Given the description of an element on the screen output the (x, y) to click on. 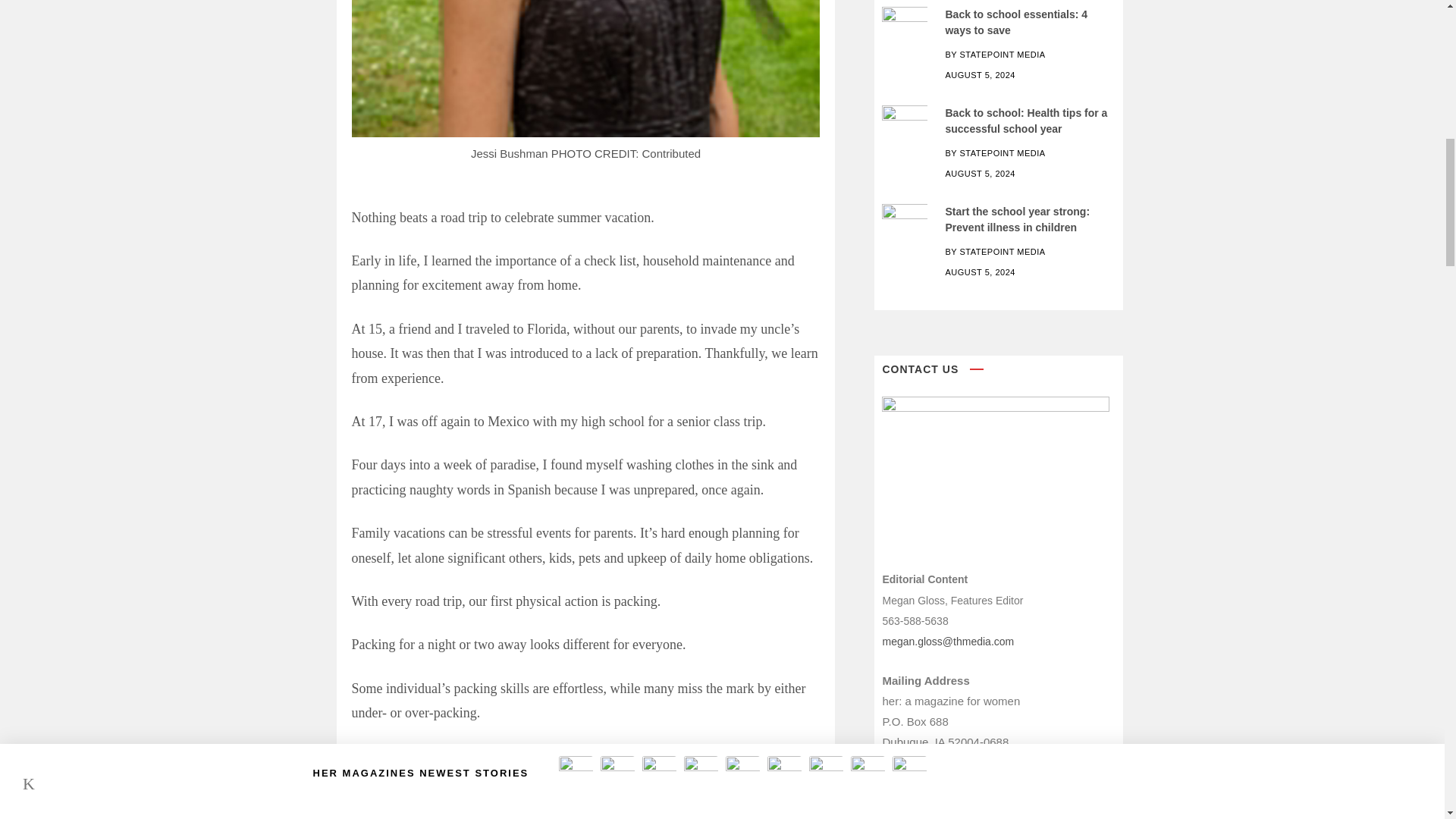
Posts by by statepoint media (994, 153)
N2312P12006H.jpg (904, 21)
Posts by by statepoint media (994, 53)
Health 2 (904, 120)
